Given the description of an element on the screen output the (x, y) to click on. 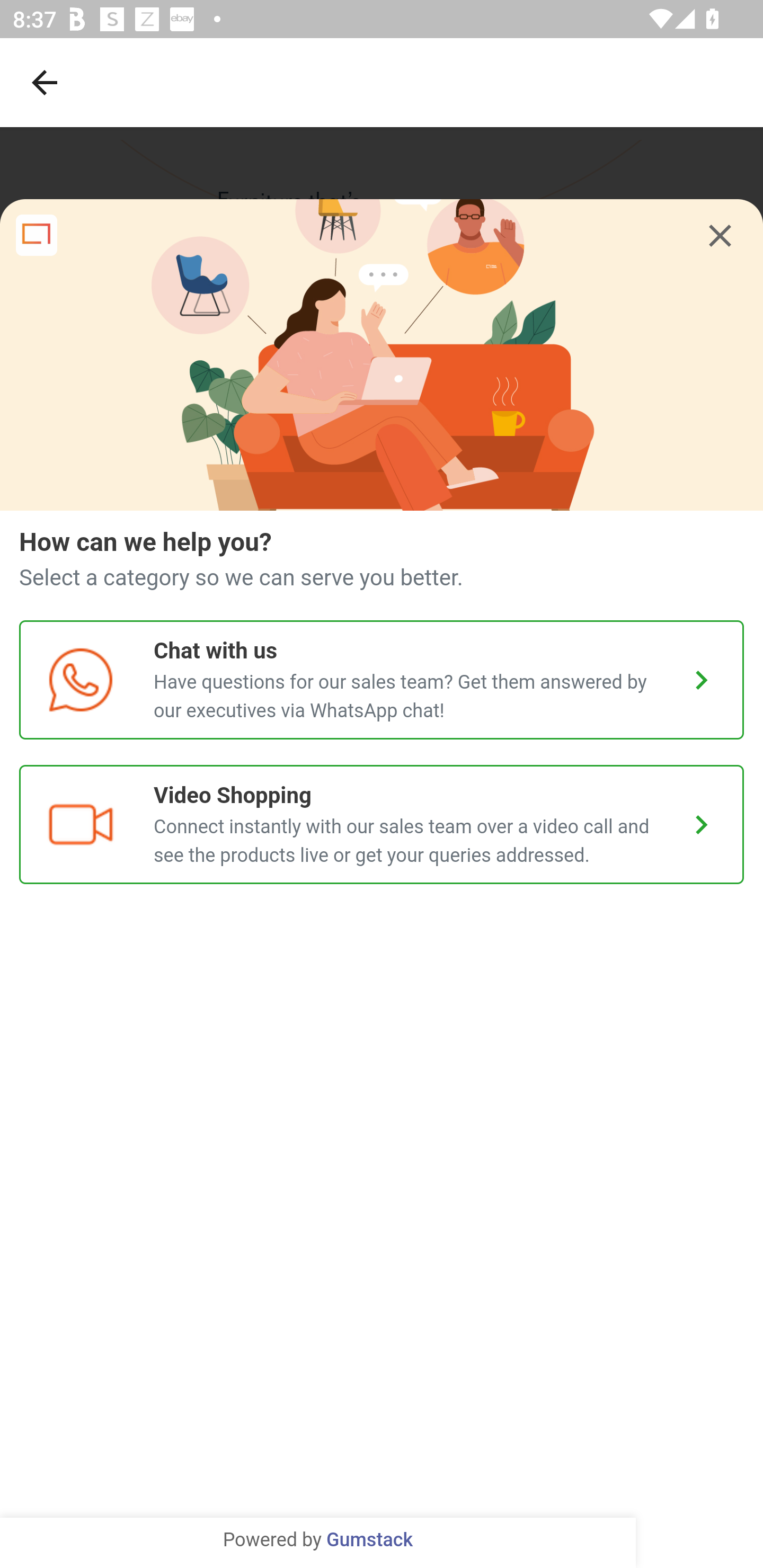
Navigate up (44, 82)
clear (720, 235)
Gumstack (369, 1540)
